Given the description of an element on the screen output the (x, y) to click on. 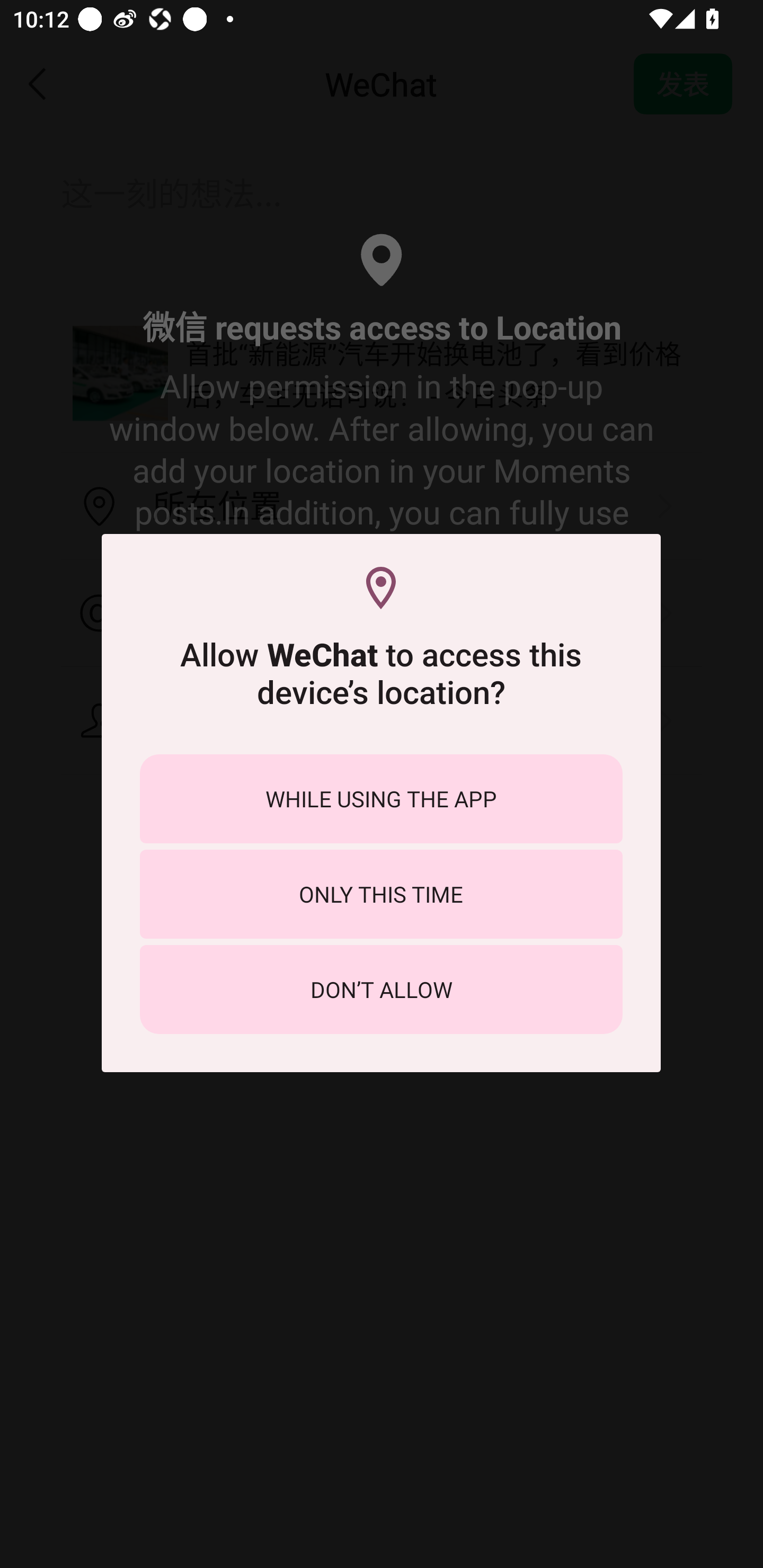
WHILE USING THE APP (380, 798)
ONLY THIS TIME (380, 894)
DON’T ALLOW (380, 989)
